Given the description of an element on the screen output the (x, y) to click on. 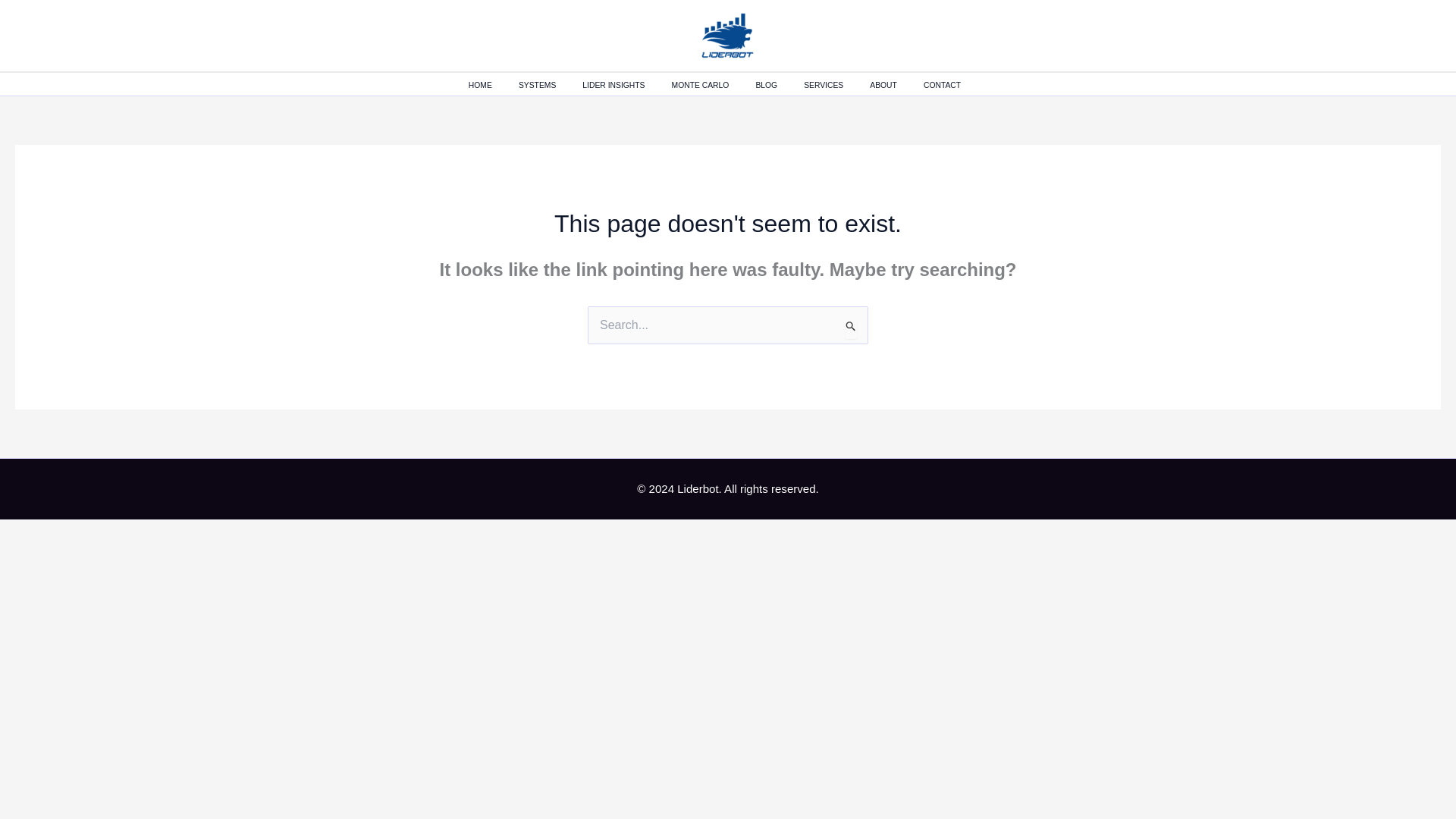
SERVICES (836, 85)
ABOUT (896, 85)
Search (850, 325)
HOME (493, 85)
CONTACT (955, 85)
LIDER INSIGHTS (626, 85)
SYSTEMS (550, 85)
MONTE CARLO (713, 85)
Search (850, 325)
BLOG (779, 85)
Search (850, 325)
